Given the description of an element on the screen output the (x, y) to click on. 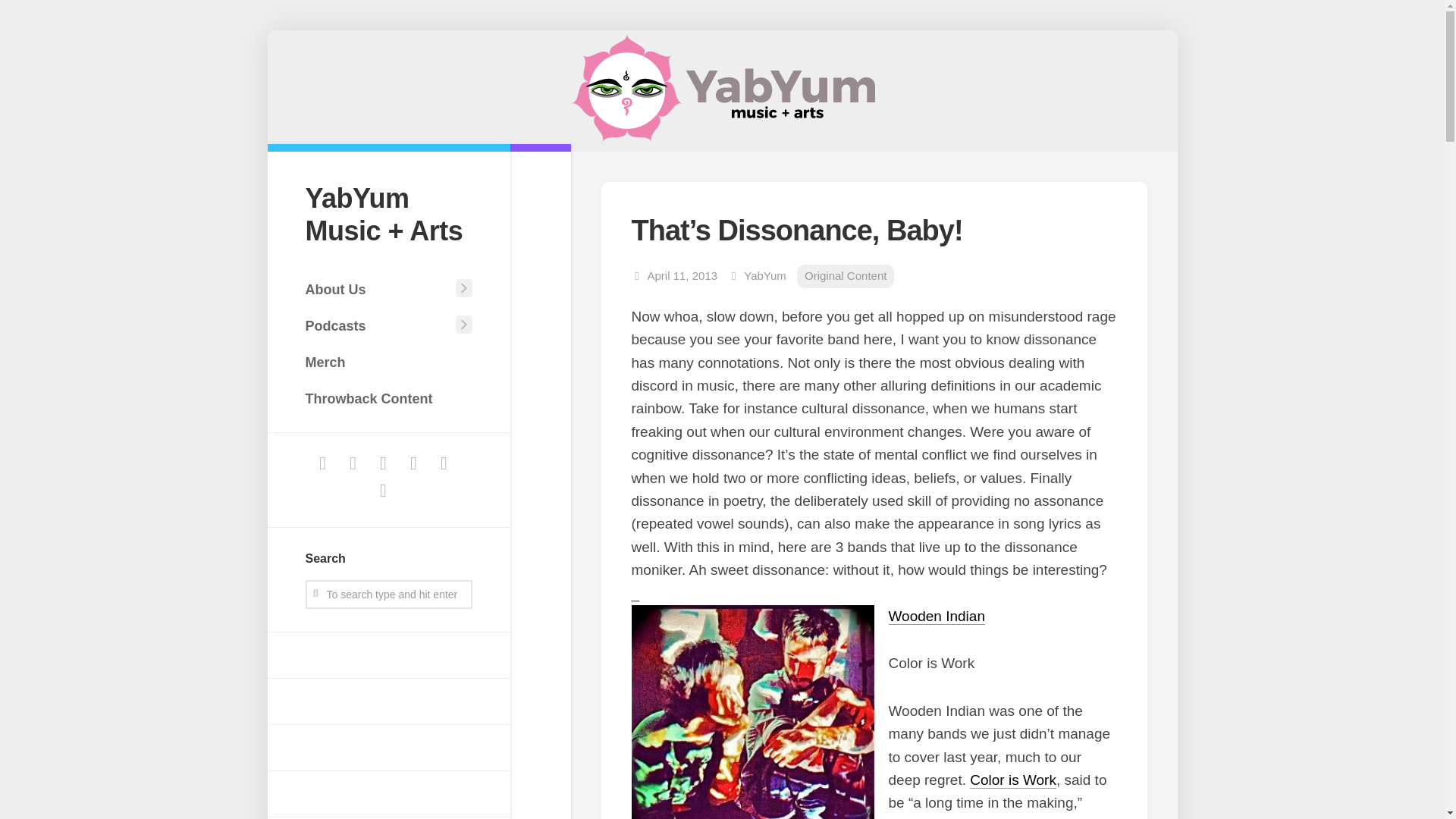
facebook (323, 462)
Merch (387, 362)
youtube-play (383, 462)
twitter (353, 462)
spotify (443, 462)
Default Label (443, 462)
About Us (376, 289)
To search type and hit enter (387, 594)
mixcloud (383, 490)
Facebook (323, 462)
Posts by YabYum (765, 275)
instagram (413, 462)
Podcasts (376, 326)
Instagram (383, 462)
Default Label (383, 490)
